Given the description of an element on the screen output the (x, y) to click on. 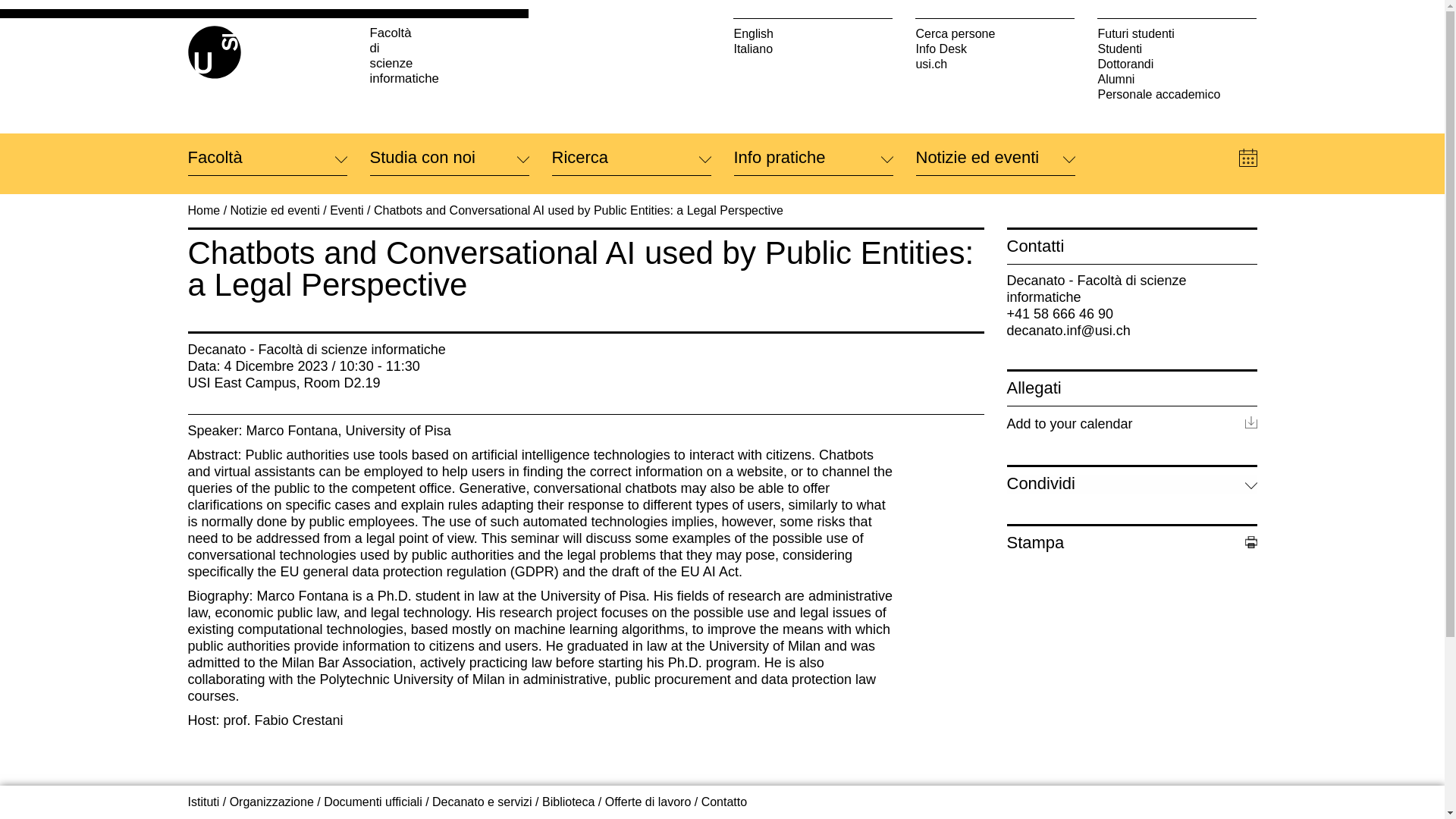
Studenti (1176, 48)
Futuri studenti (1176, 33)
Alumni (1176, 79)
Dottorandi (1176, 64)
usi.ch (994, 64)
Italiano (812, 48)
Personale accademico (1176, 94)
English (812, 33)
Info Desk (994, 48)
Cerca persone (994, 33)
